Given the description of an element on the screen output the (x, y) to click on. 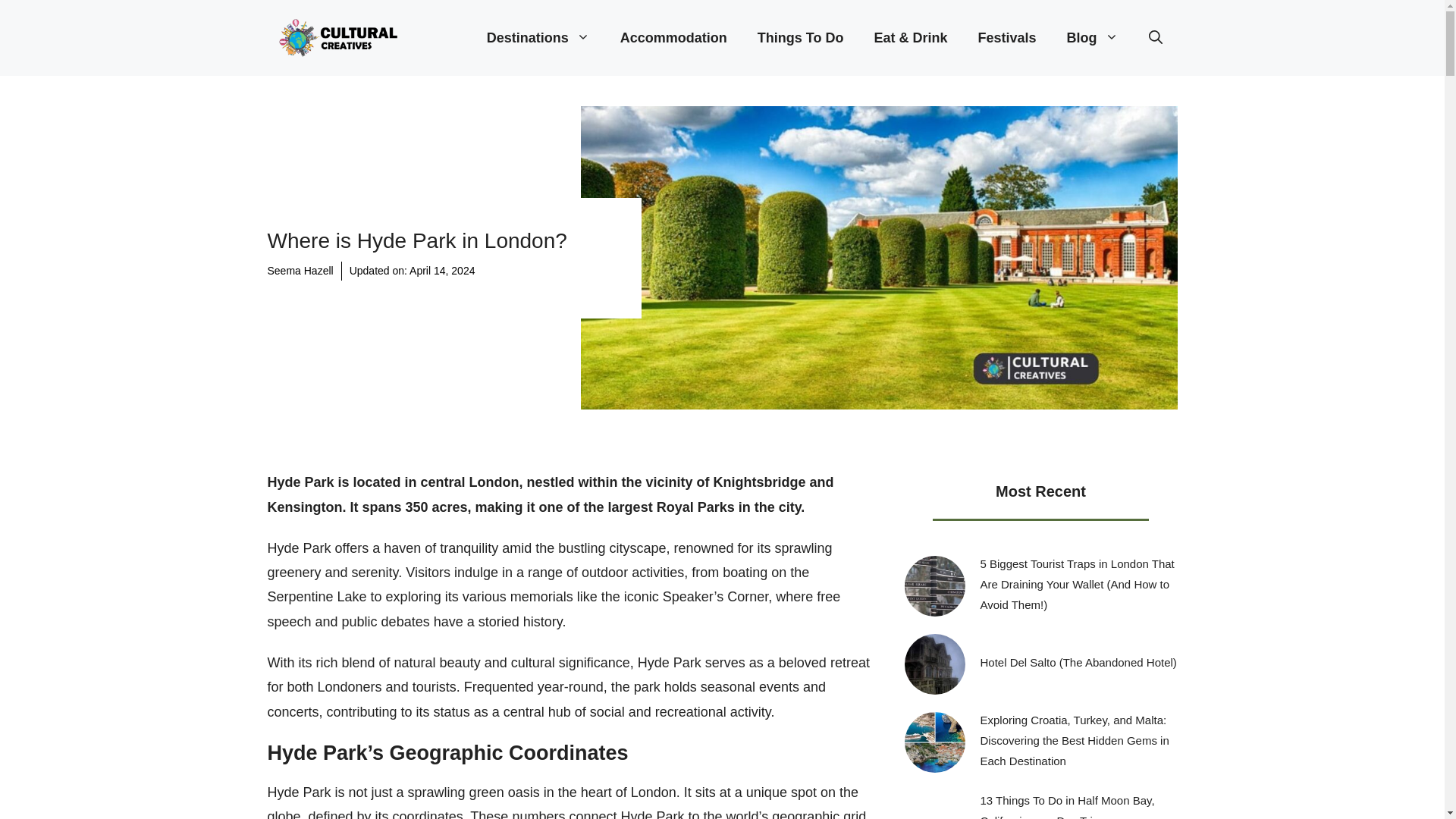
Seema Hazell (299, 270)
Festivals (1006, 37)
Things To Do (800, 37)
13 Things To Do in Half Moon Bay, California on a Day Trip (1066, 806)
Destinations (538, 37)
Accommodation (673, 37)
Blog (1091, 37)
